Given the description of an element on the screen output the (x, y) to click on. 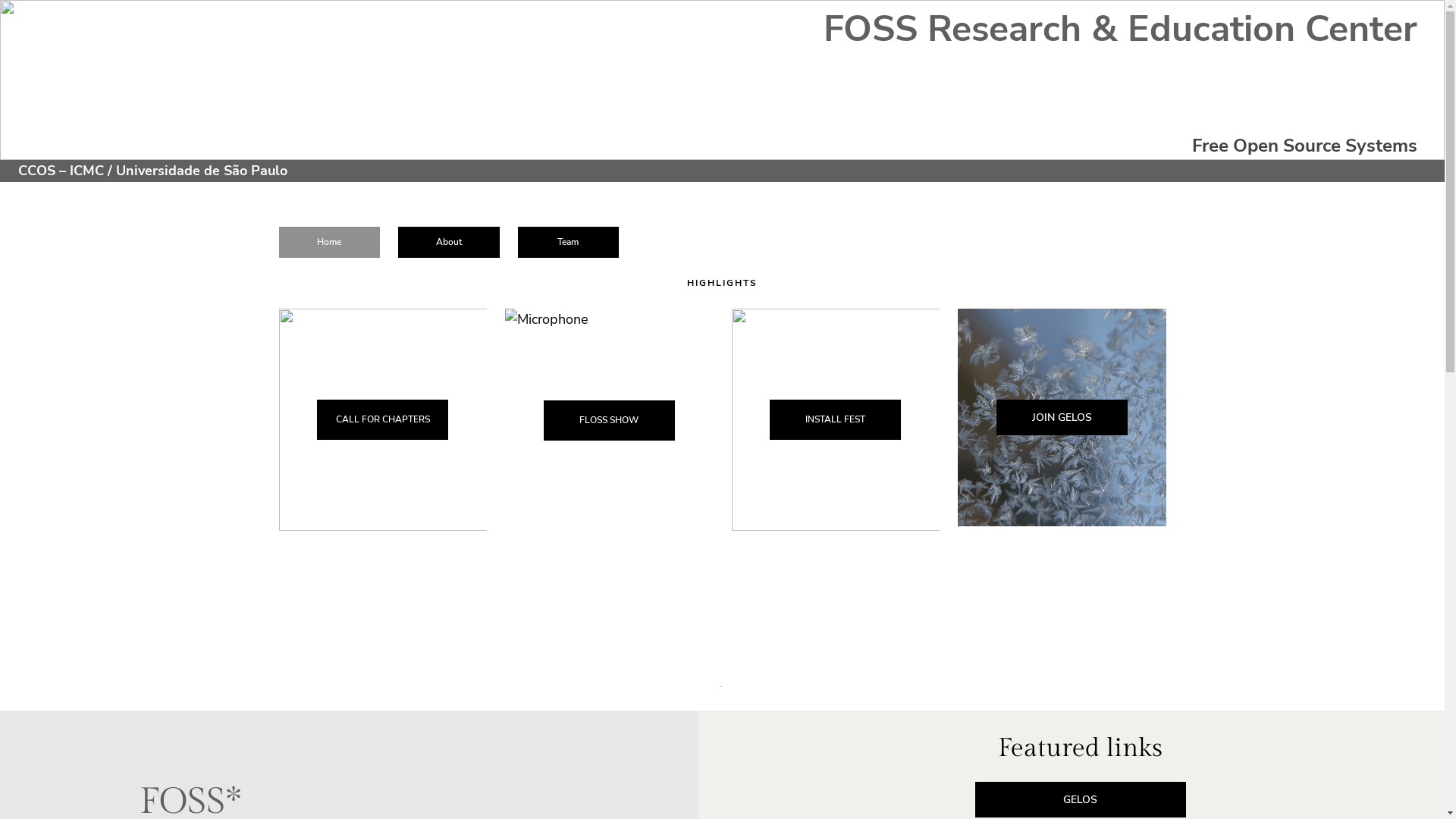
JOIN GELOS Element type: text (1061, 417)
Team Element type: text (568, 241)
CALL FOR CHAPTERS Element type: text (382, 419)
FLOSS SHOW Element type: text (608, 420)
GELOS Element type: text (1080, 799)
INSTALL FEST Element type: text (834, 419)
About Element type: text (448, 241)
Home Element type: text (329, 241)
